Given the description of an element on the screen output the (x, y) to click on. 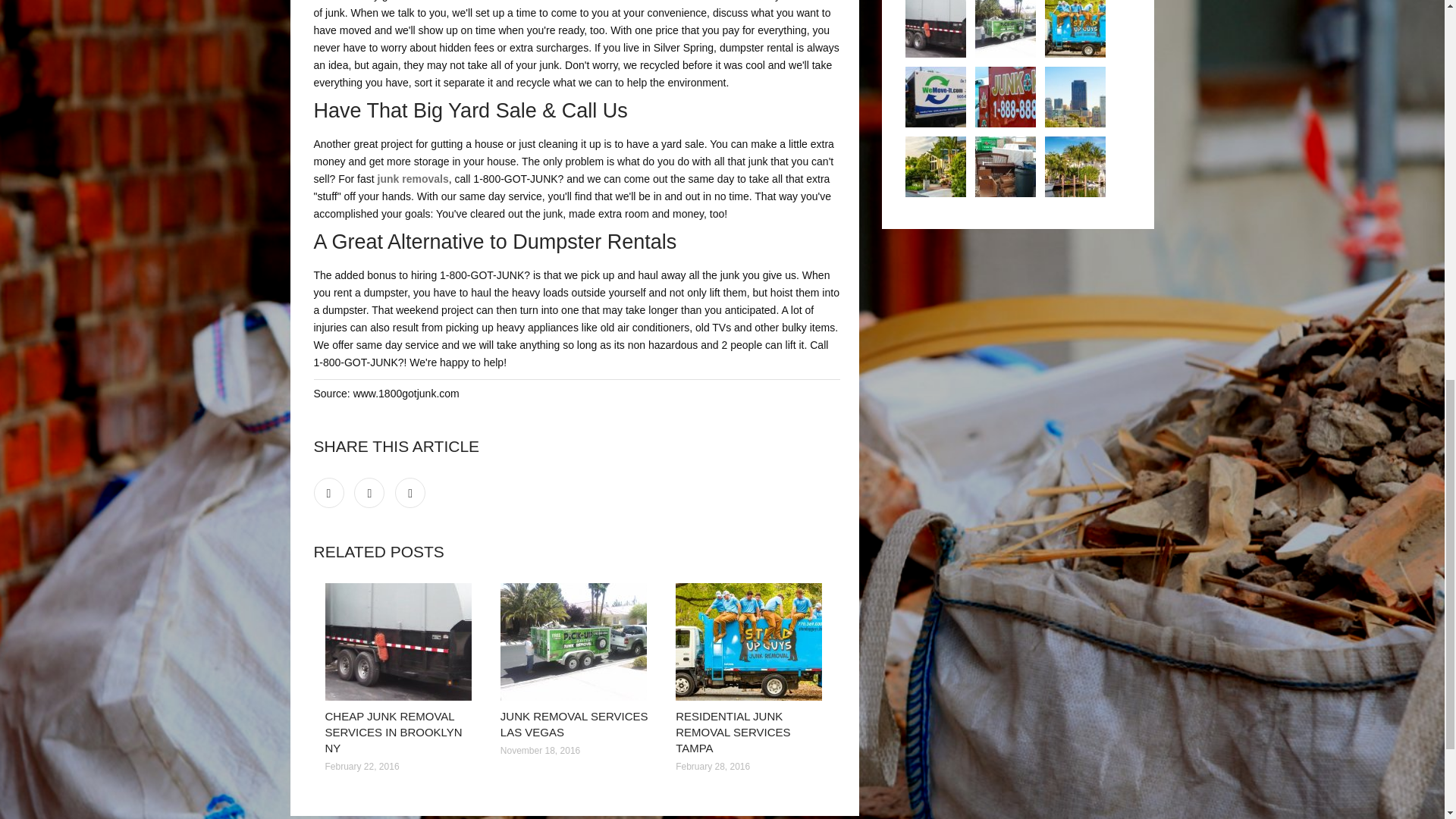
Junk Removal Services Ontario (935, 96)
Junk Removal Services Orange County CA (935, 166)
Junk Removal Services Las Vegas (576, 642)
Residential Junk Removal Services Tampa (751, 642)
Evergreen Junk Removal Services LLc (1005, 96)
Junk Removal Services San Francisco (1075, 96)
Cheap Junk Removal Services in Brooklyn NY (935, 28)
Junk Removal Services in Florida (1075, 166)
CHEAP JUNK REMOVAL SERVICES IN BROOKLYN NY (392, 732)
JUNK REMOVAL SERVICES LAS VEGAS (573, 724)
